Given the description of an element on the screen output the (x, y) to click on. 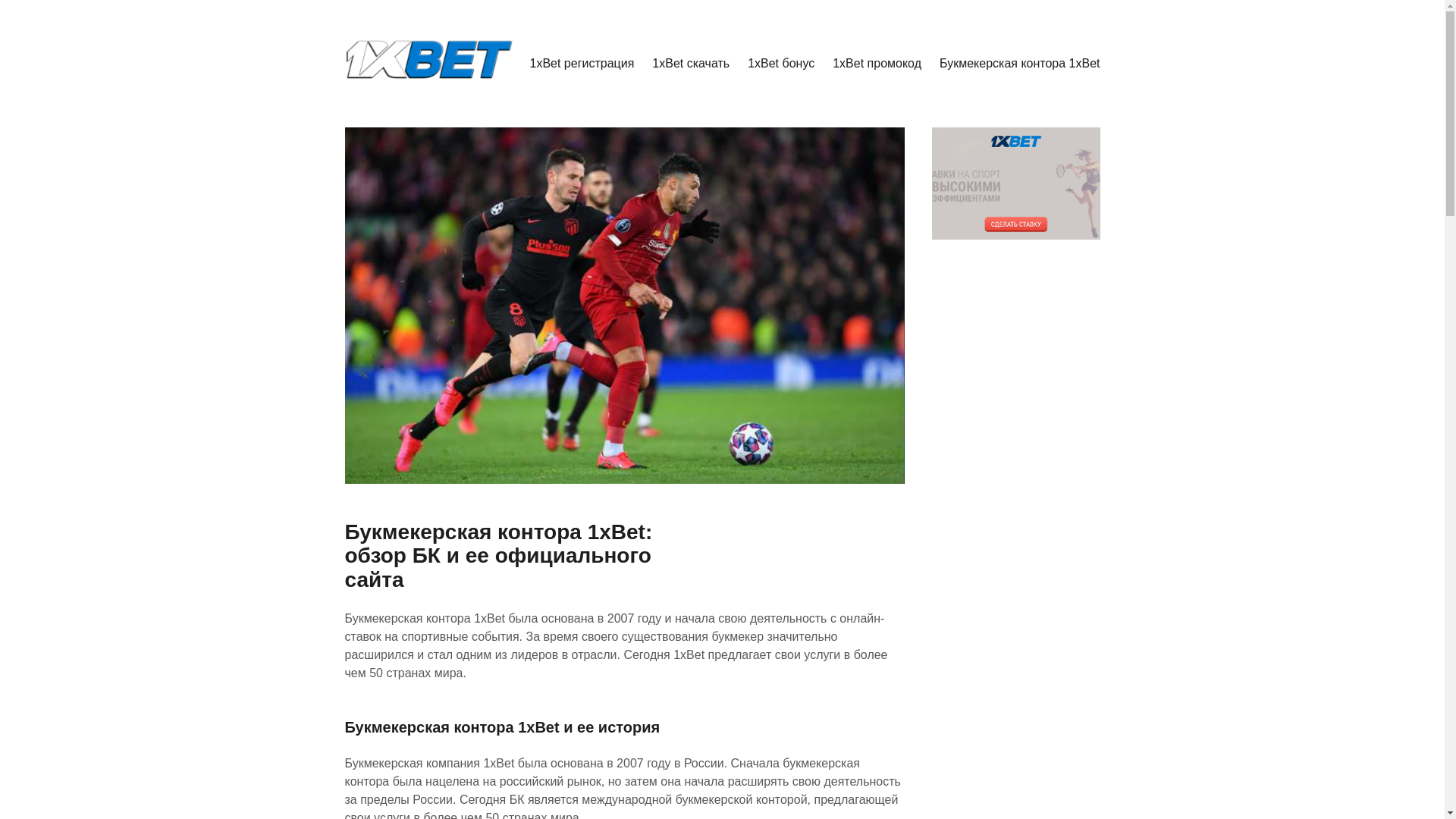
Skip to content Element type: text (344, 0)
https://1xbetregisterprocess.com/ Element type: text (490, 107)
